Given the description of an element on the screen output the (x, y) to click on. 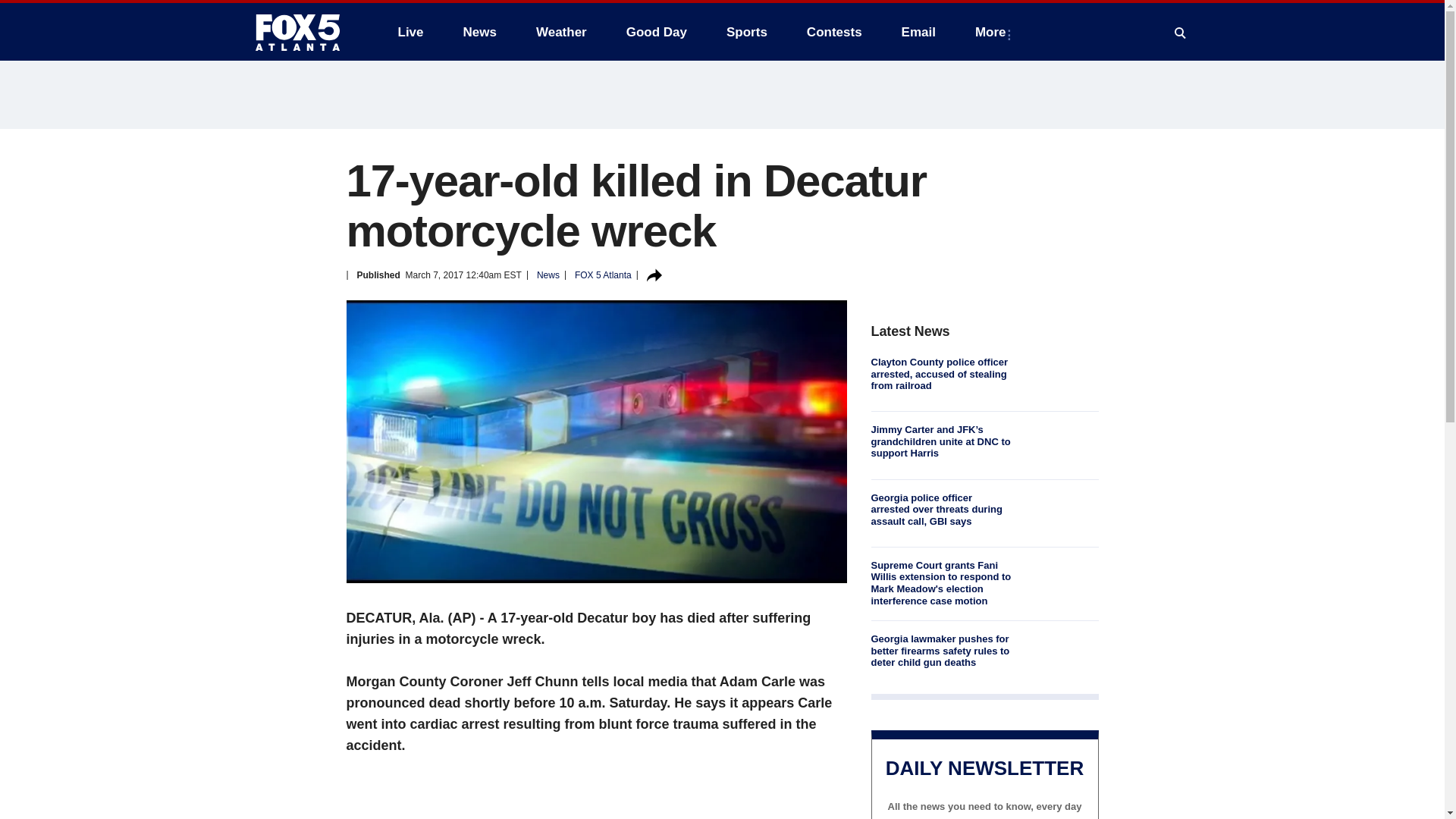
More (993, 32)
Contests (834, 32)
Sports (746, 32)
Weather (561, 32)
Email (918, 32)
News (479, 32)
Good Day (656, 32)
Live (410, 32)
